Given the description of an element on the screen output the (x, y) to click on. 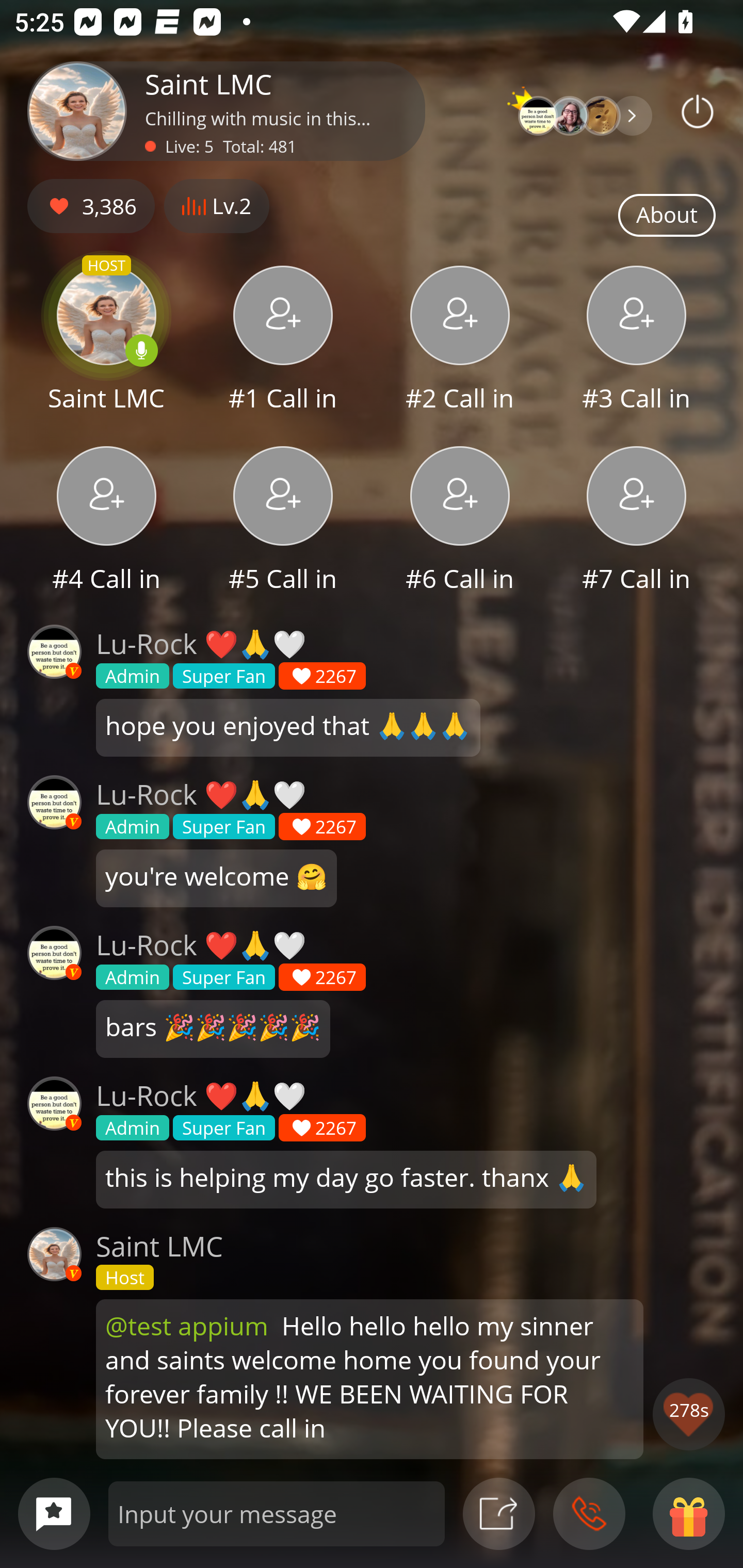
Podbean (697, 111)
About (666, 215)
HOST Saint LMC (105, 340)
#1 Call in (282, 340)
#2 Call in (459, 340)
#3 Call in (636, 340)
#4 Call in (105, 521)
#5 Call in (282, 521)
#6 Call in (459, 521)
#7 Call in (636, 521)
Input your message (276, 1513)
